Given the description of an element on the screen output the (x, y) to click on. 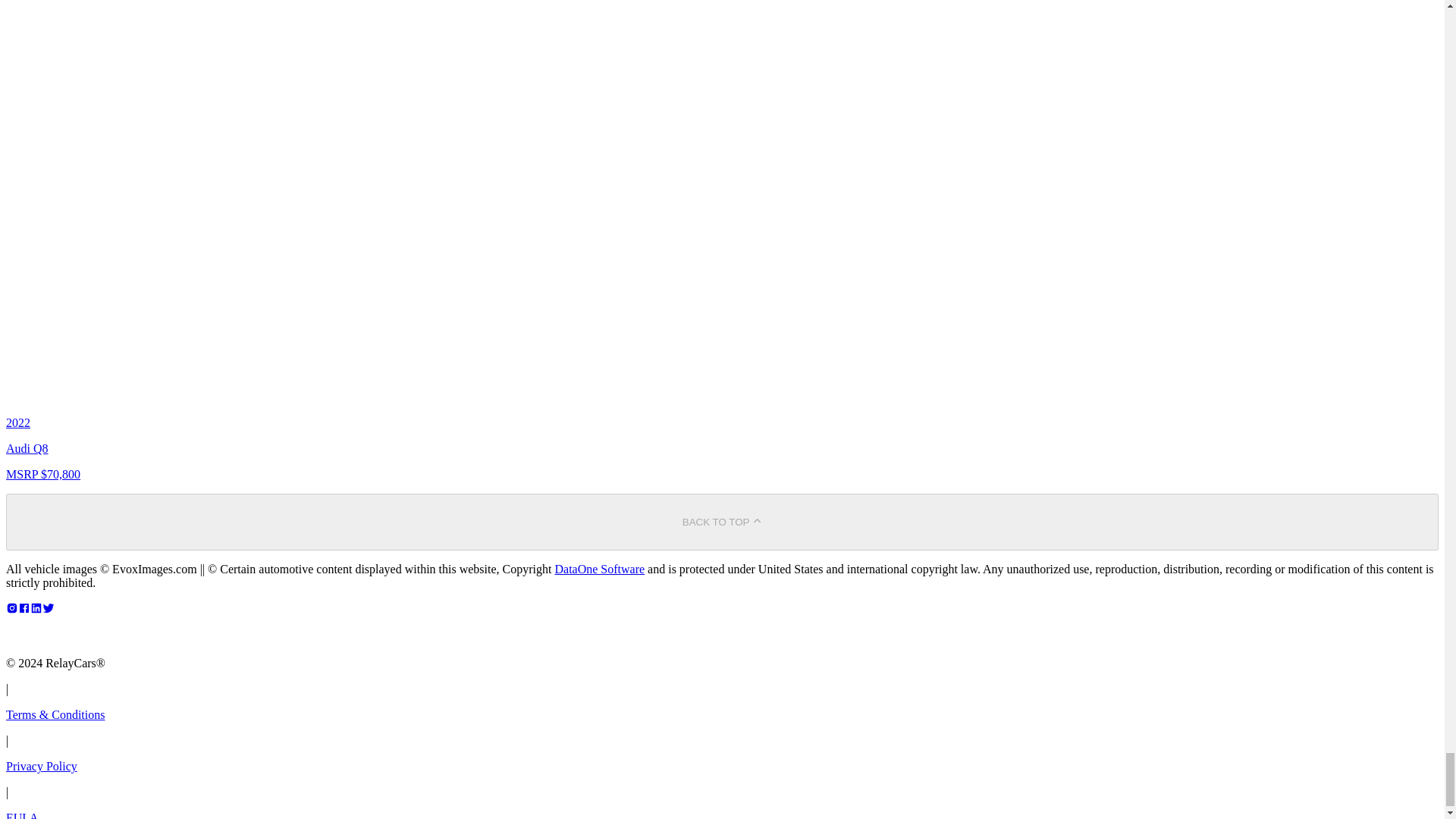
DataOne Software (599, 568)
Privacy Policy (41, 766)
